Given the description of an element on the screen output the (x, y) to click on. 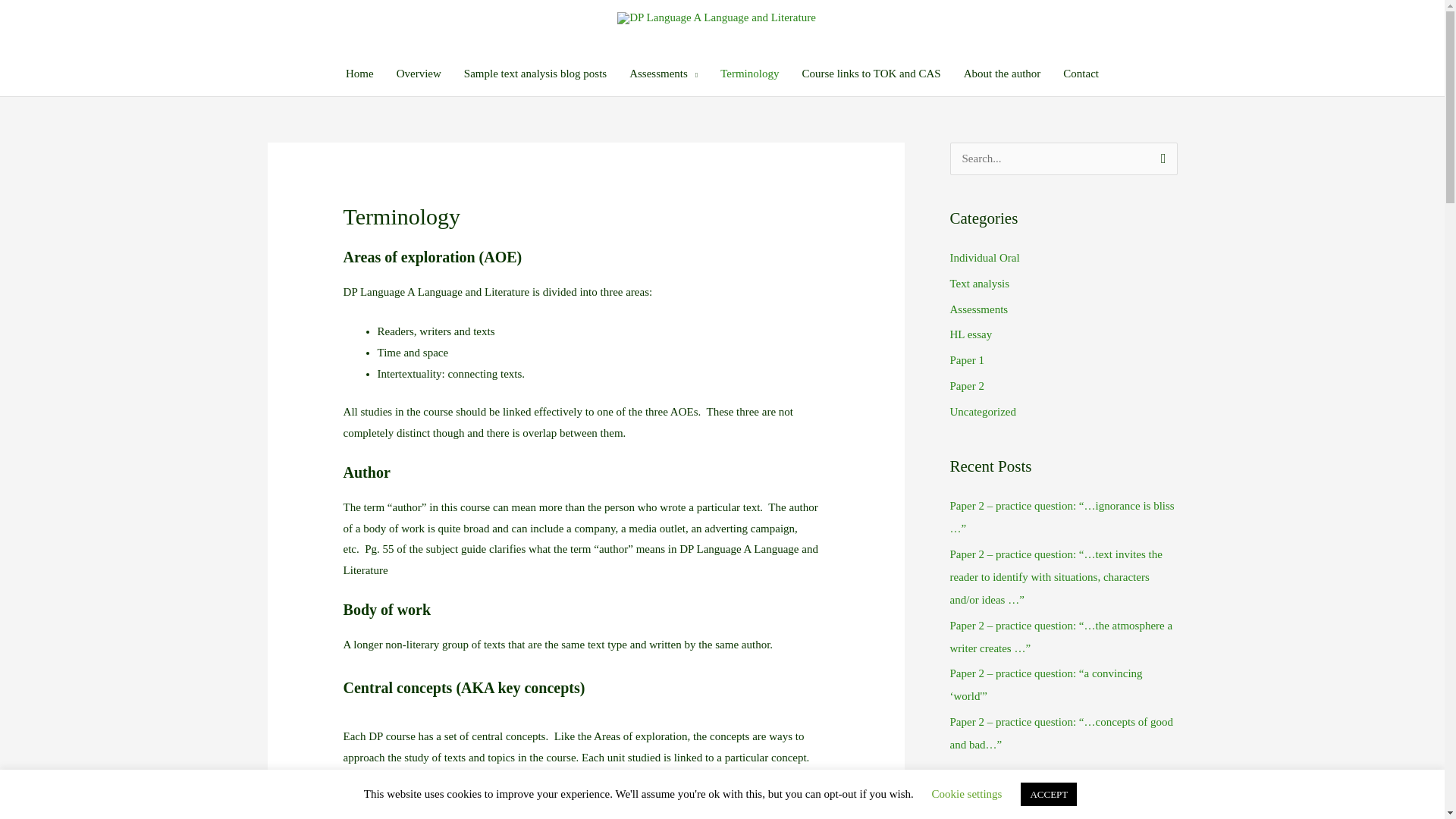
Individual Oral (984, 257)
Search (1159, 157)
Search (1159, 157)
Paper 2 (966, 386)
Terminology (749, 73)
Text analysis (979, 283)
Assessments (663, 73)
Overview (418, 73)
HL essay (970, 334)
Assessments (978, 309)
